Given the description of an element on the screen output the (x, y) to click on. 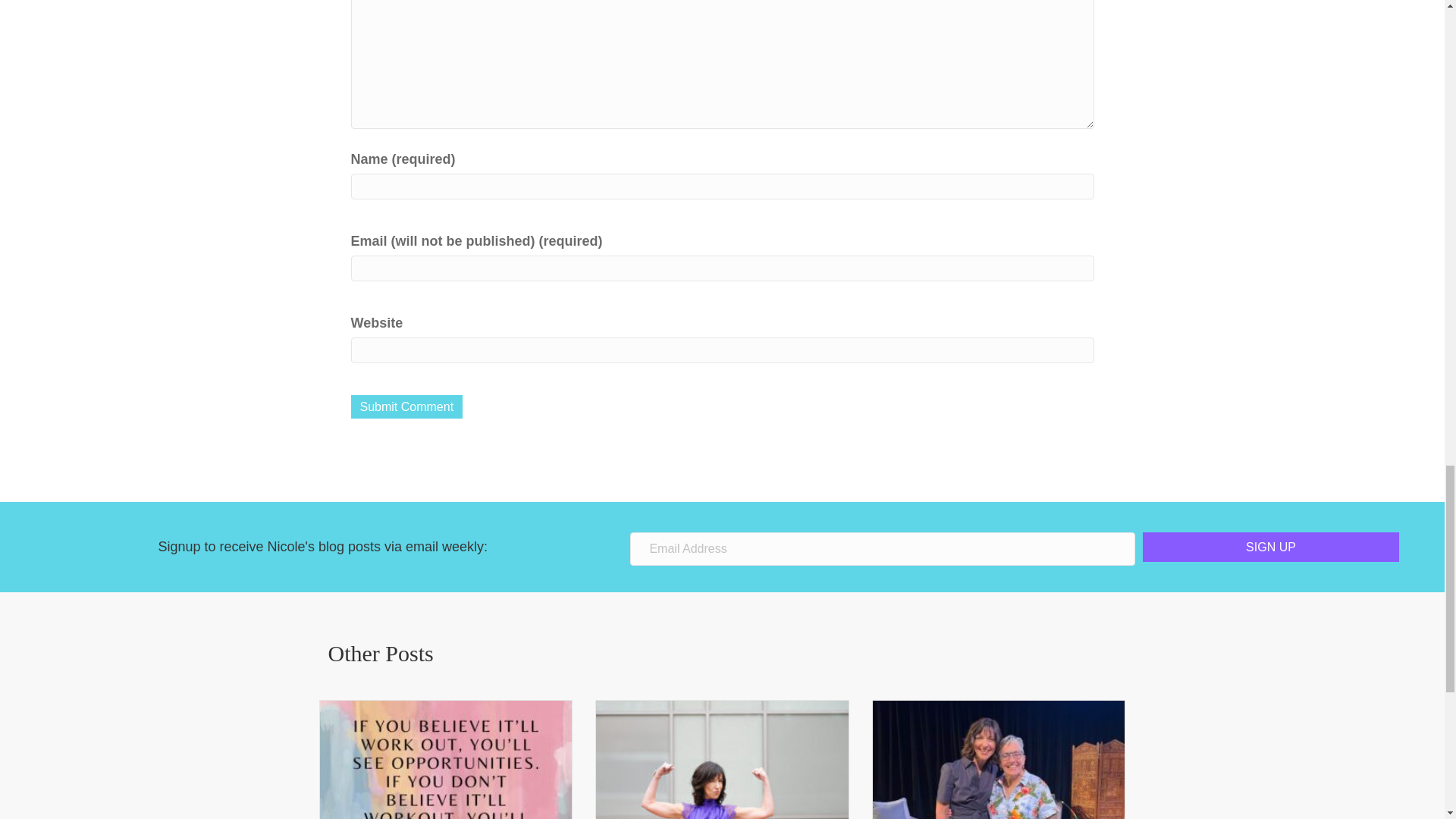
Submit Comment (406, 406)
Submit Comment (406, 406)
SIGN UP (1270, 546)
